Given the description of an element on the screen output the (x, y) to click on. 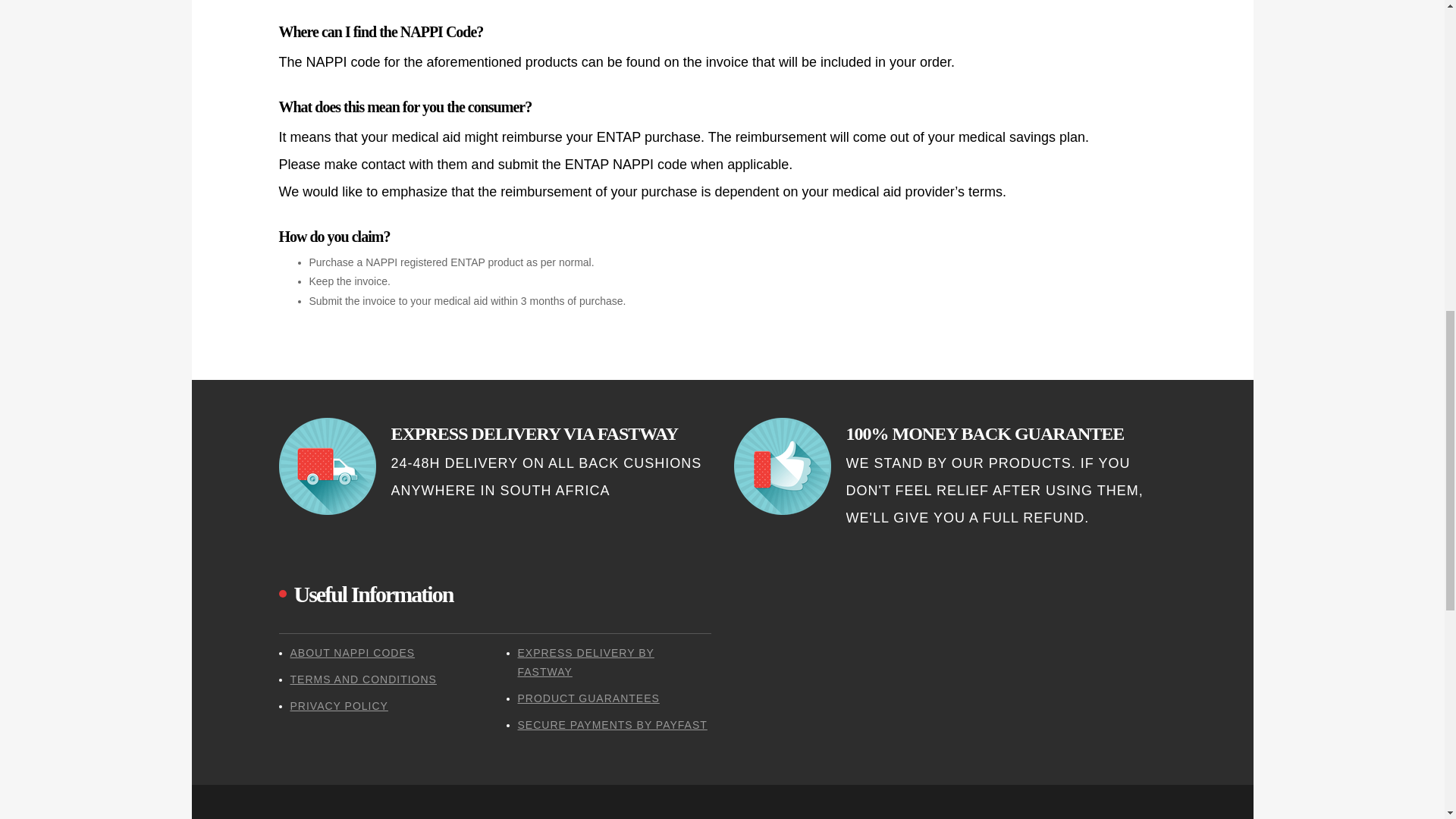
SECURE PAYMENTS BY PAYFAST (611, 725)
ABOUT NAPPI CODES (351, 653)
EXPRESS DELIVERY BY FASTWAY (584, 662)
PRODUCT GUARANTEES (587, 698)
PRIVACY POLICY (338, 705)
TERMS AND CONDITIONS (362, 679)
